Given the description of an element on the screen output the (x, y) to click on. 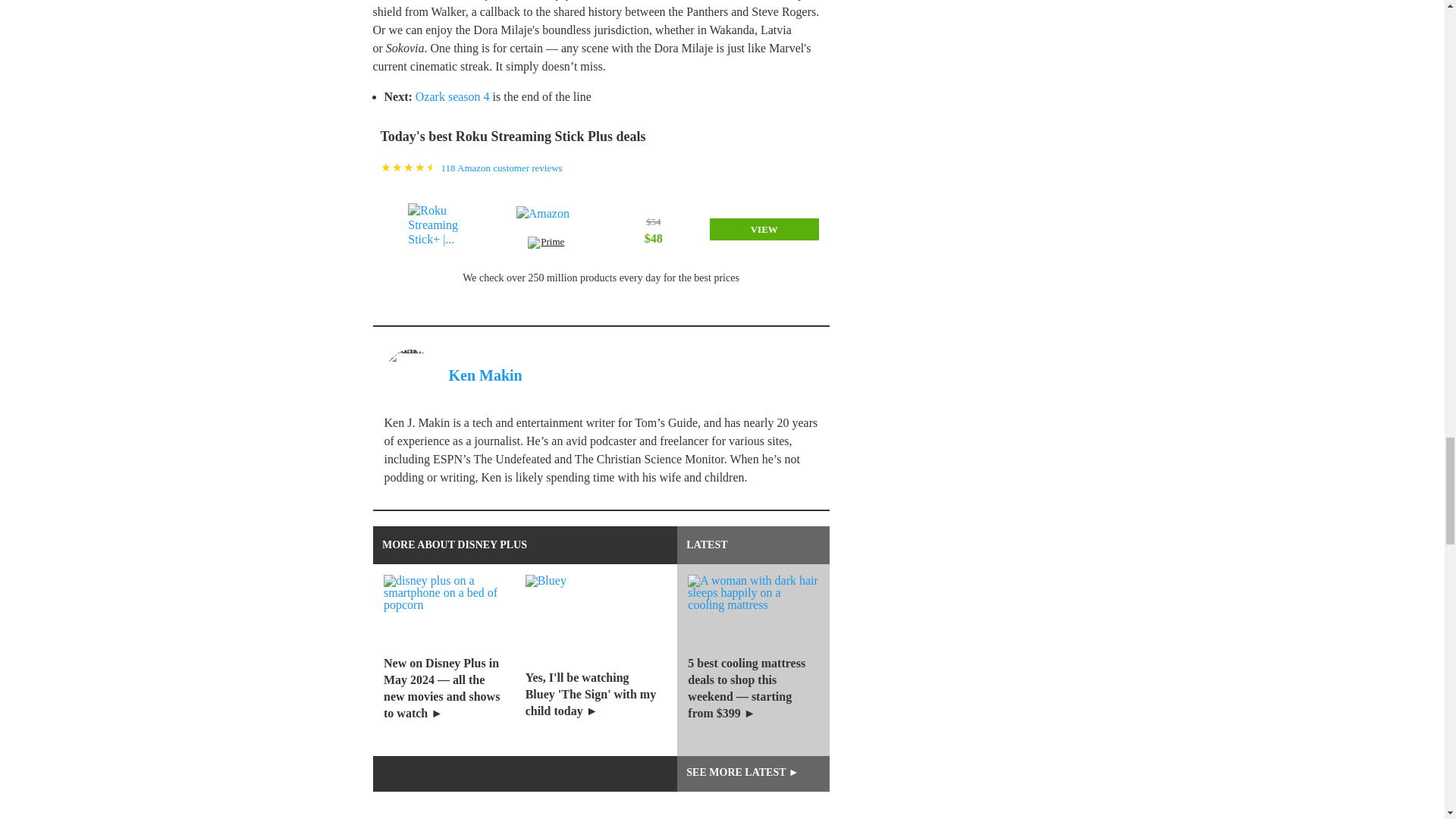
Amazon (546, 221)
Prime (546, 244)
